Given the description of an element on the screen output the (x, y) to click on. 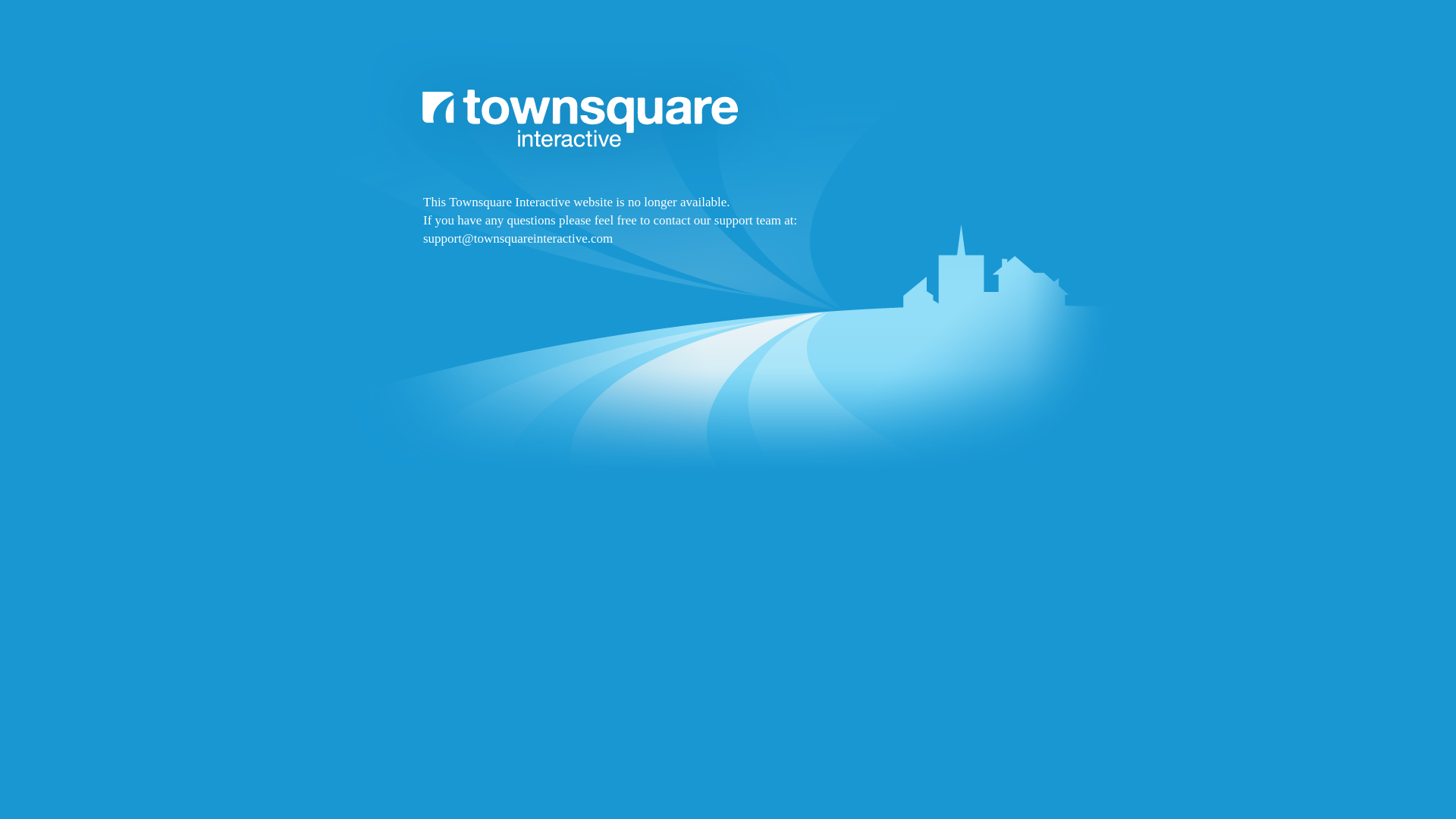
Townsquare Interactive Element type: hover (727, 297)
